Given the description of an element on the screen output the (x, y) to click on. 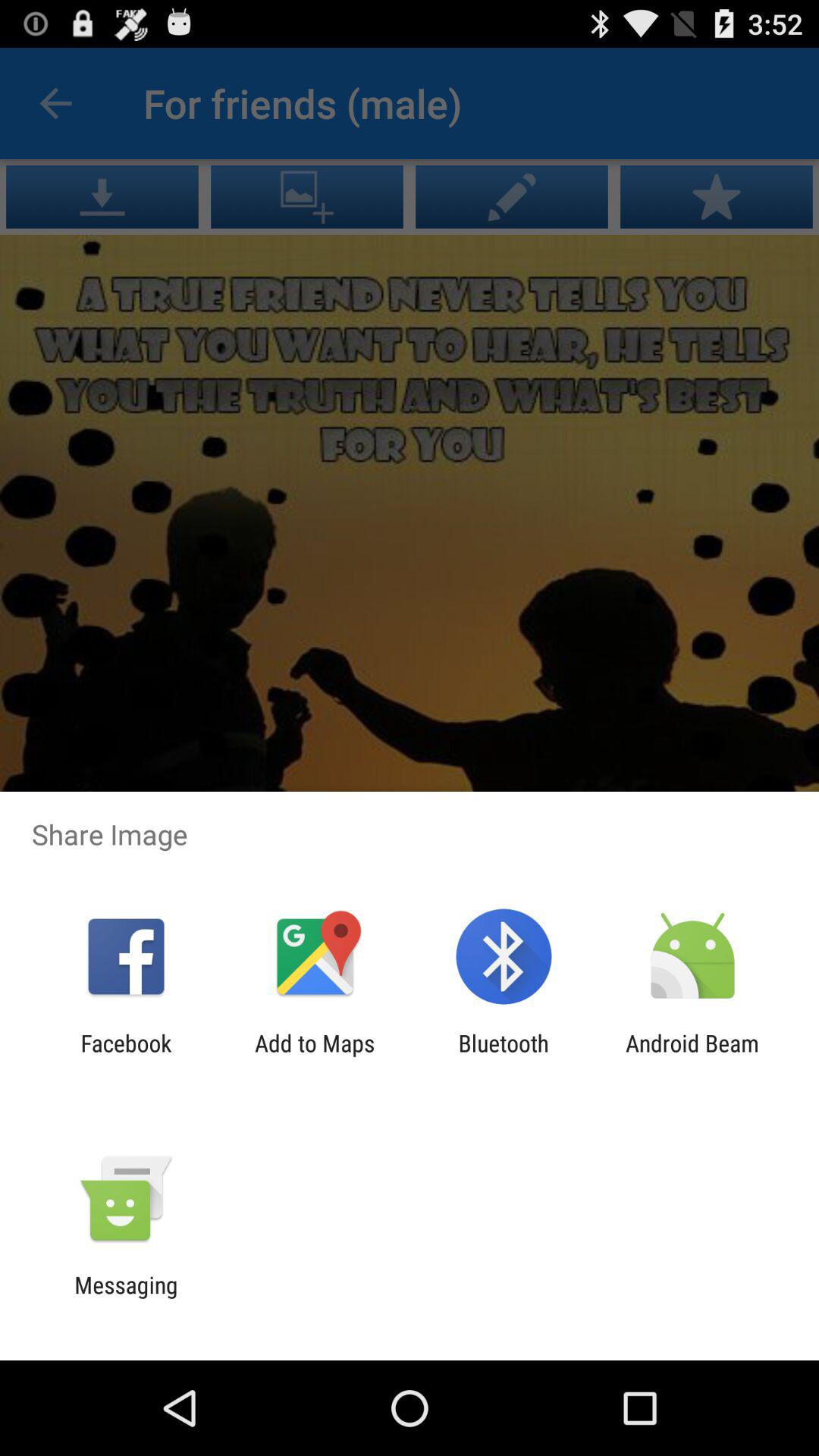
choose the item to the left of the android beam (503, 1056)
